Given the description of an element on the screen output the (x, y) to click on. 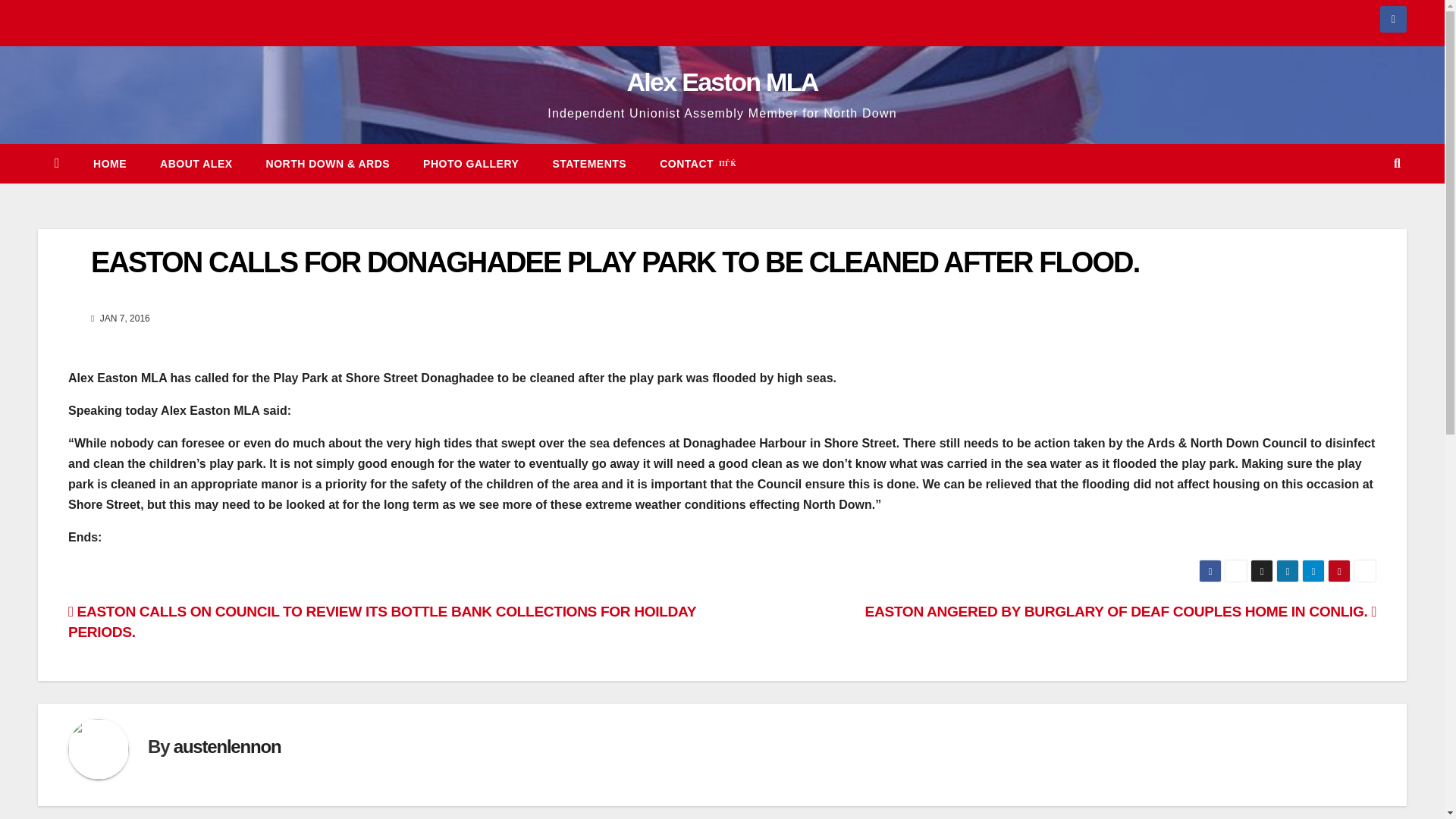
EASTON ANGERED BY BURGLARY OF DEAF COUPLES HOME IN CONLIG. (1119, 611)
CONTACT (697, 163)
STATEMENTS (589, 163)
Photo Gallery (470, 163)
Alex Easton MLA (721, 81)
austenlennon (227, 746)
HOME (109, 163)
ABOUT ALEX (195, 163)
Statements (589, 163)
About Alex (195, 163)
Contact (697, 163)
PHOTO GALLERY (470, 163)
